Given the description of an element on the screen output the (x, y) to click on. 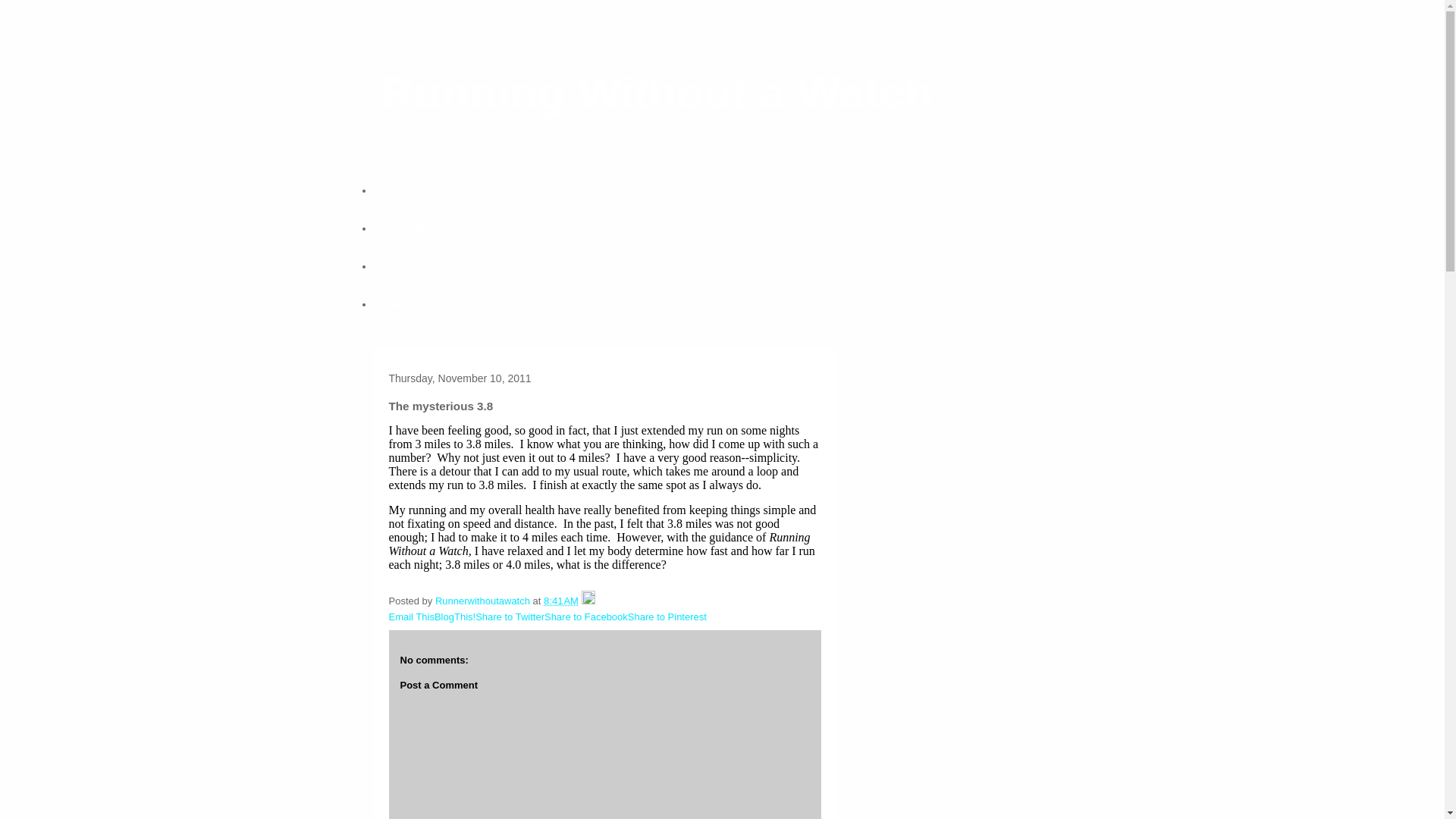
permanent link (560, 600)
Email This (410, 616)
Runnerwithoutawatch (483, 600)
Share to Pinterest (666, 616)
Share to Twitter (510, 616)
Edit Post (587, 600)
Running Without a Watch (655, 92)
BlogThis! (454, 616)
BlogThis! (454, 616)
Share to Facebook (585, 616)
Share to Pinterest (666, 616)
author profile (483, 600)
Email This (410, 616)
Gear (404, 266)
